Given the description of an element on the screen output the (x, y) to click on. 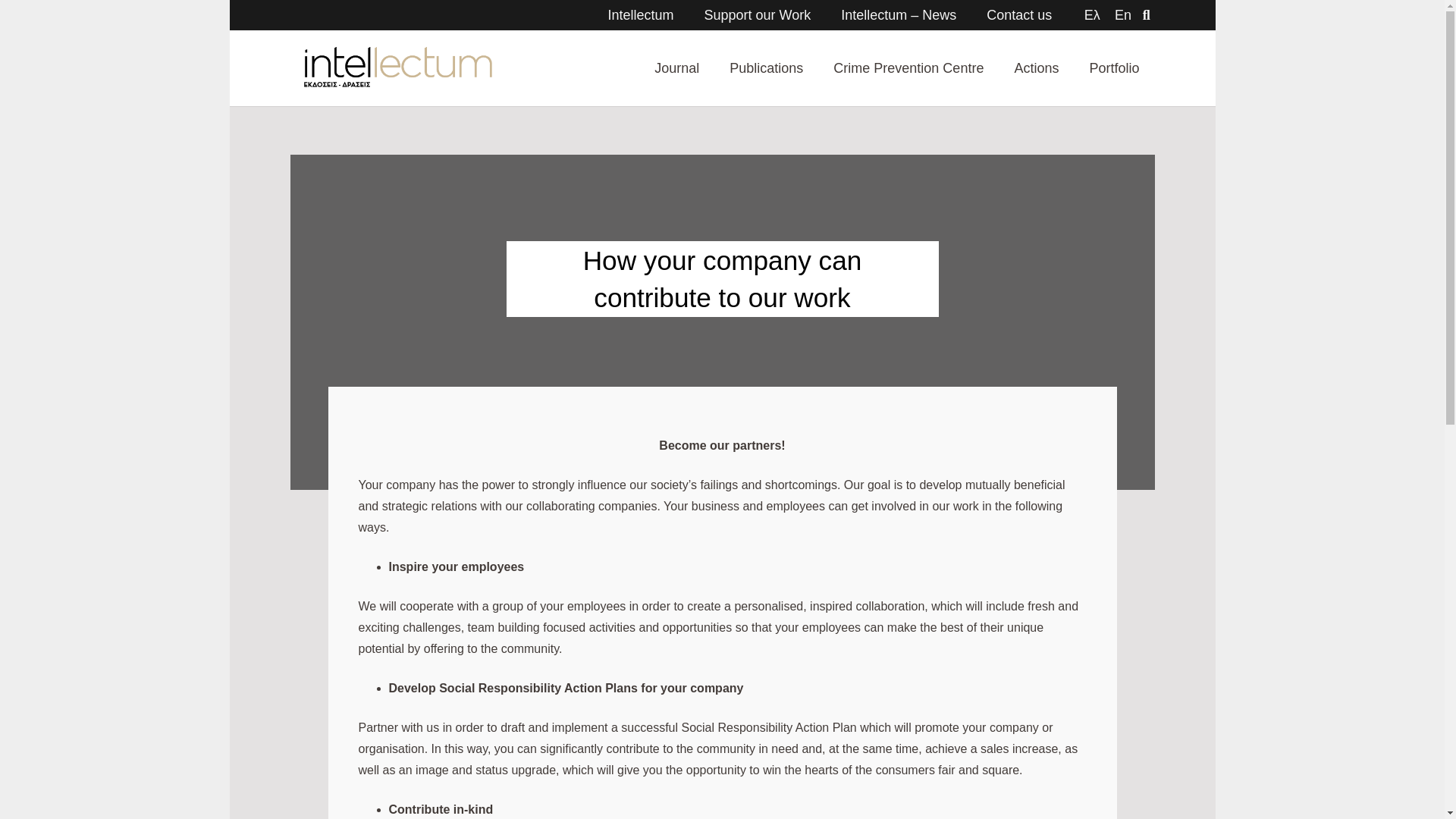
Intellectum (640, 15)
Journal (676, 68)
Portfolio (1114, 68)
Publications (766, 68)
En (1123, 14)
Actions (1036, 68)
Support our Work (756, 15)
Contact us (1019, 15)
Crime Prevention Centre (908, 68)
